Given the description of an element on the screen output the (x, y) to click on. 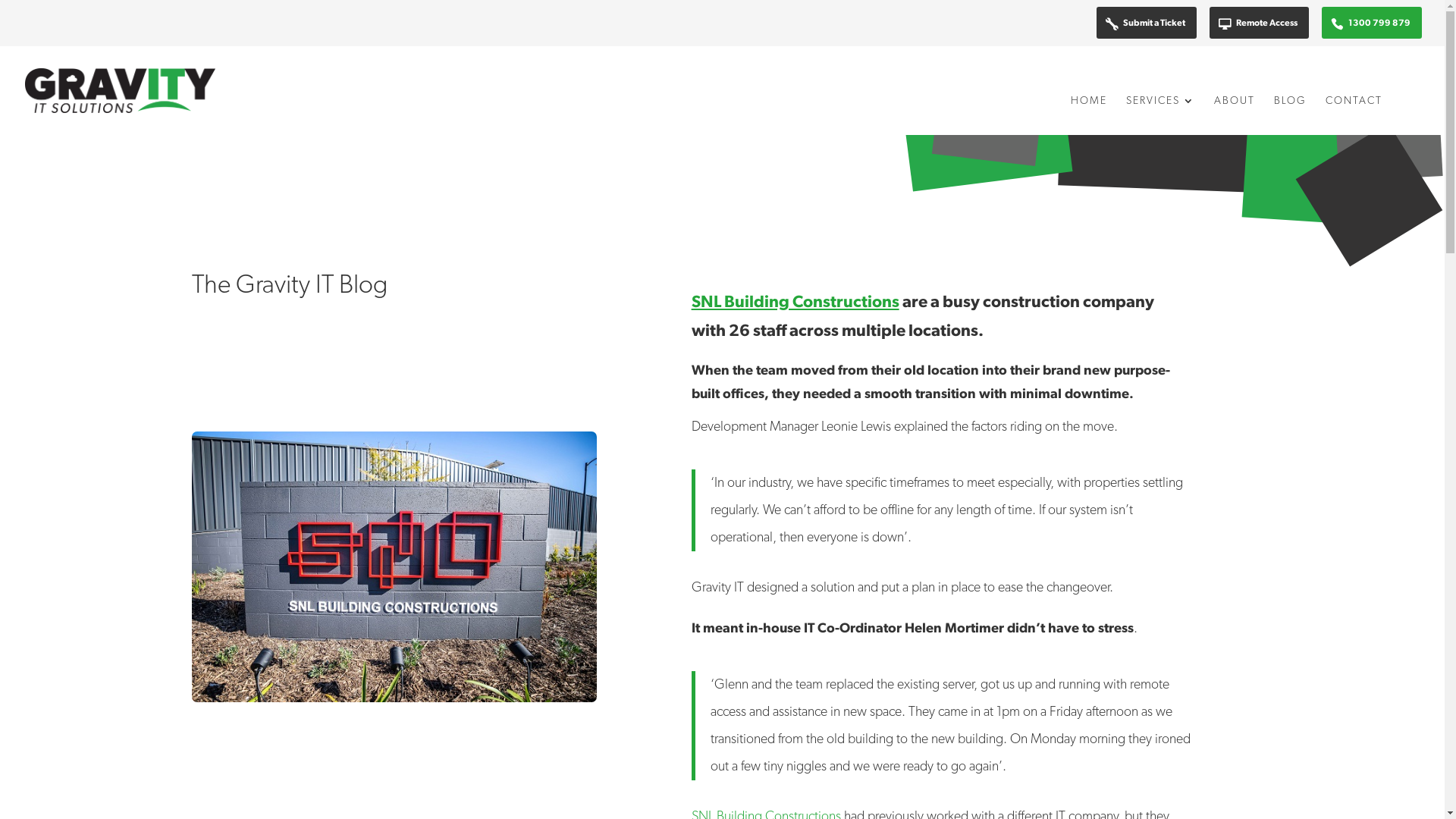
SNL Building Constructions Element type: text (795, 301)
Submit a Ticket Element type: text (1146, 22)
CONTACT Element type: text (1353, 114)
BLOG Element type: text (1290, 114)
HOME Element type: text (1088, 114)
SNLBuildingphotos-70 Element type: hover (393, 566)
SERVICES Element type: text (1160, 114)
1300 799 879 Element type: text (1371, 22)
Remote Access Element type: text (1258, 22)
ABOUT Element type: text (1234, 114)
